Given the description of an element on the screen output the (x, y) to click on. 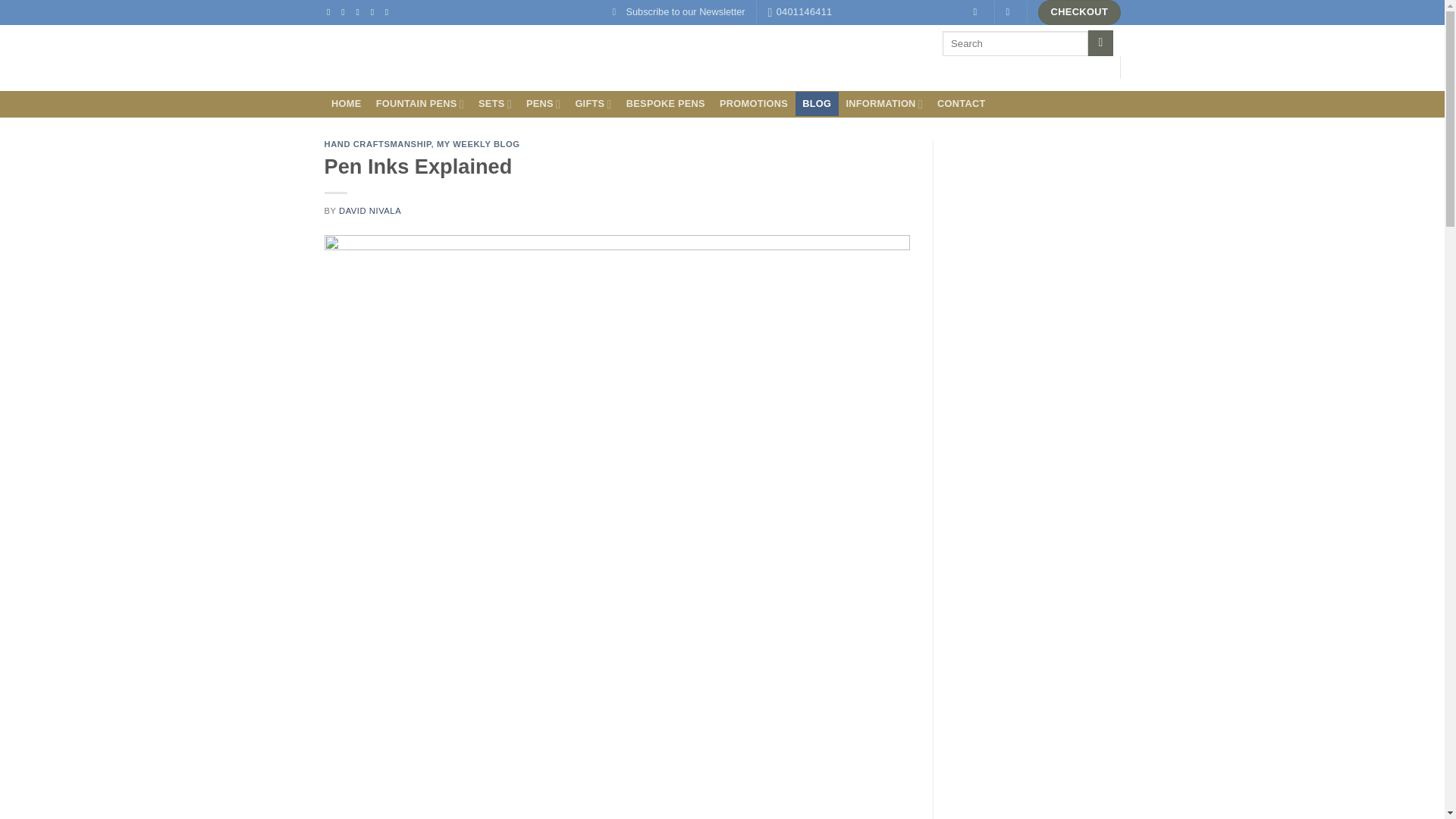
0401146411 (800, 11)
CHECKOUT (1078, 12)
Subscribe to our Newsletter (678, 11)
SETS (494, 103)
Aussiepens "n" things (400, 57)
0401146411 (800, 11)
FOUNTAIN PENS (419, 103)
HOME (346, 103)
PENS (542, 103)
Sign up for Newsletter (678, 11)
